Given the description of an element on the screen output the (x, y) to click on. 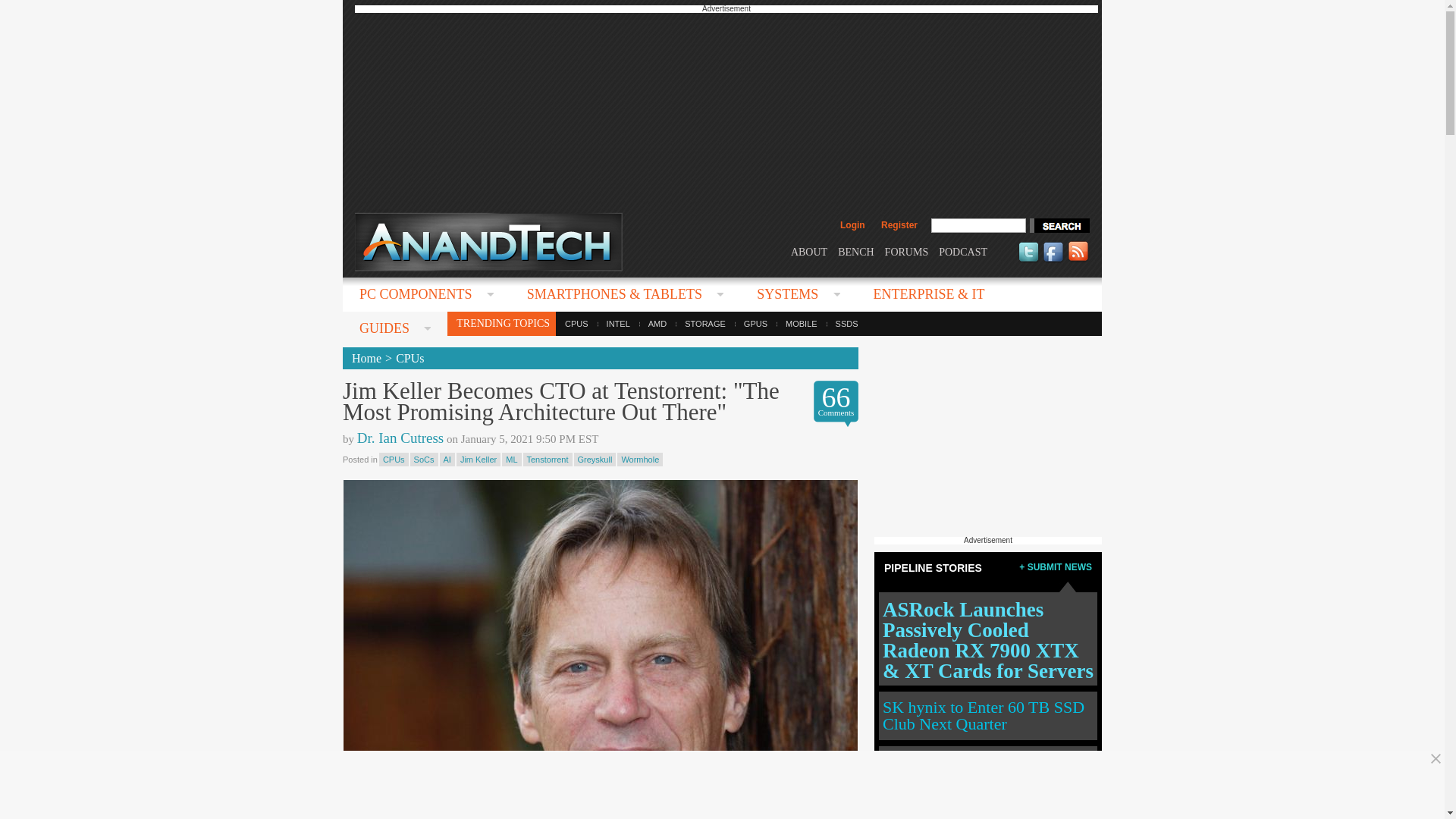
FORUMS (906, 251)
PODCAST (963, 251)
search (1059, 225)
Register (898, 225)
search (1059, 225)
search (1059, 225)
BENCH (855, 251)
ABOUT (808, 251)
Login (852, 225)
